Given the description of an element on the screen output the (x, y) to click on. 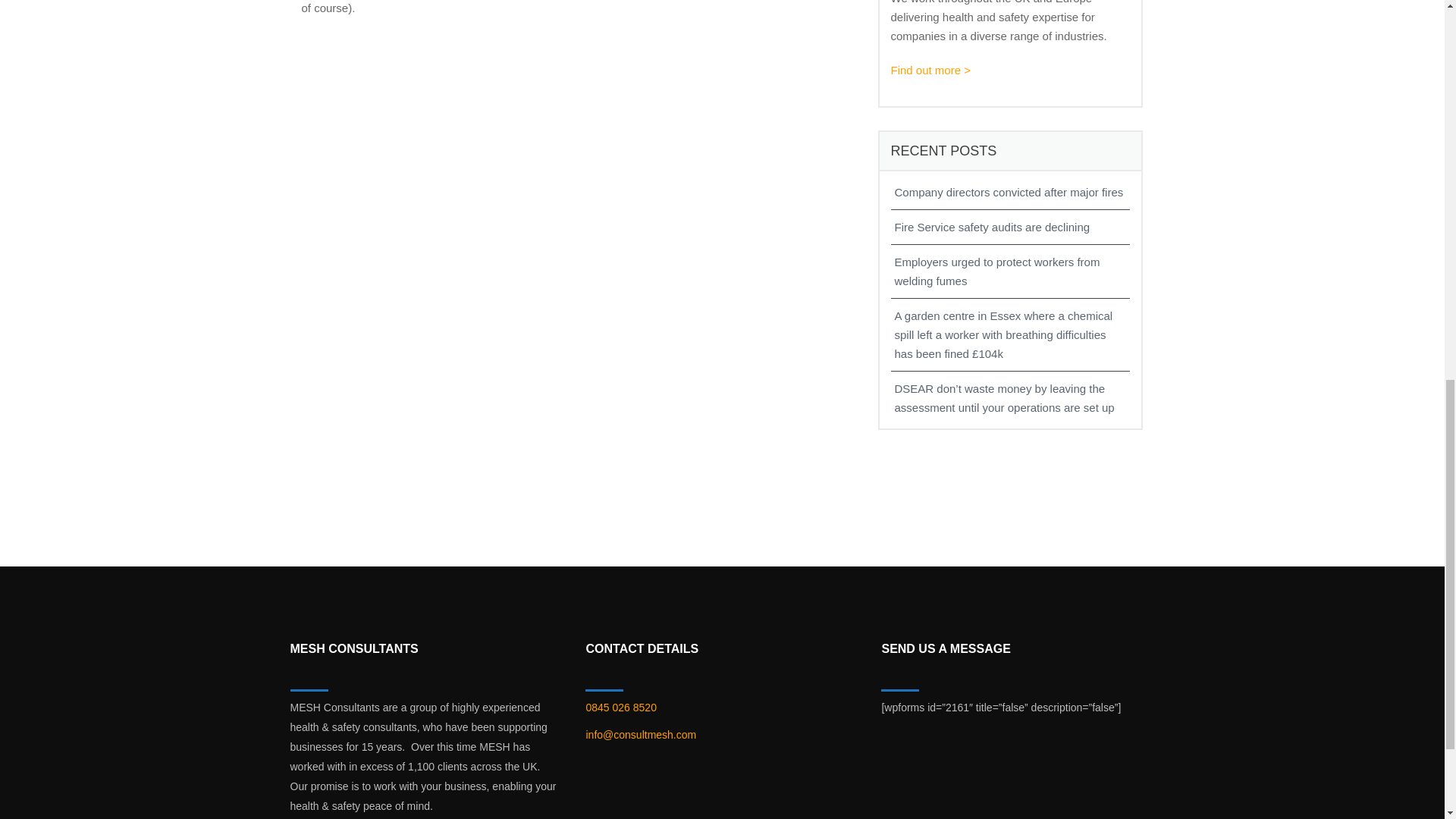
Fire Service safety audits are declining (1010, 226)
Employers urged to protect workers from welding fumes (1010, 271)
Company directors convicted after major fires (1010, 191)
0845 026 8520 (620, 707)
Find out more about our coverage (929, 69)
